Given the description of an element on the screen output the (x, y) to click on. 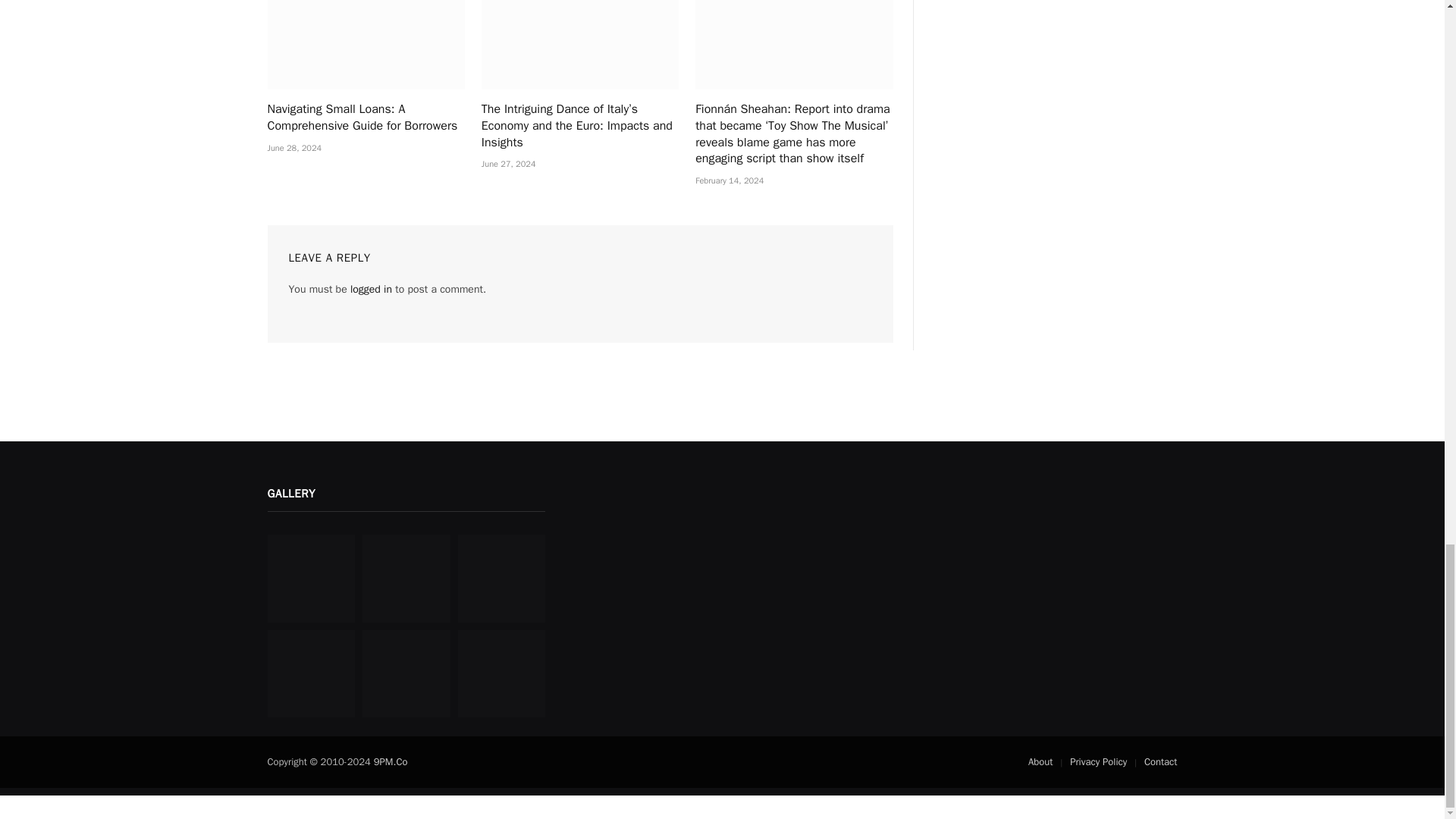
Navigating Small Loans: A Comprehensive Guide for Borrowers (365, 44)
